Given the description of an element on the screen output the (x, y) to click on. 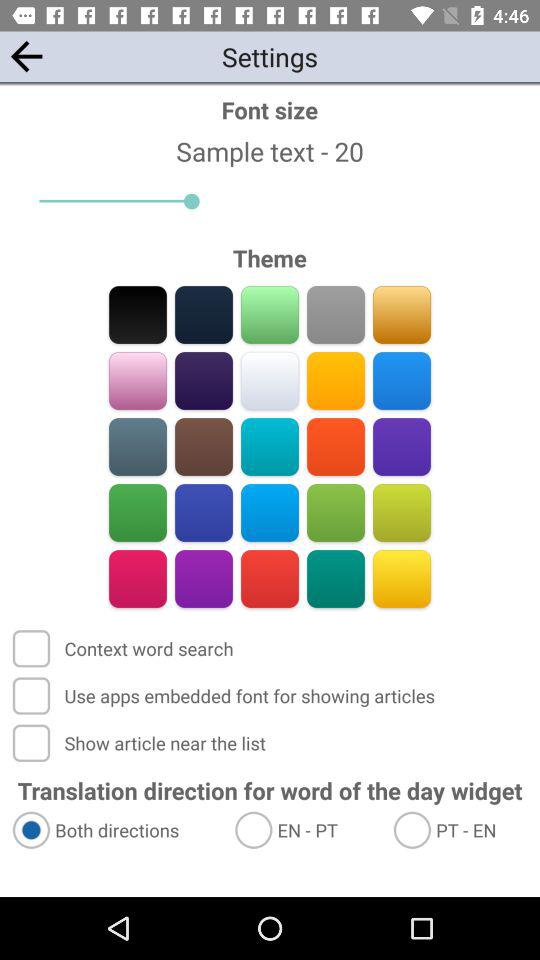
scroll to show article near icon (141, 742)
